Given the description of an element on the screen output the (x, y) to click on. 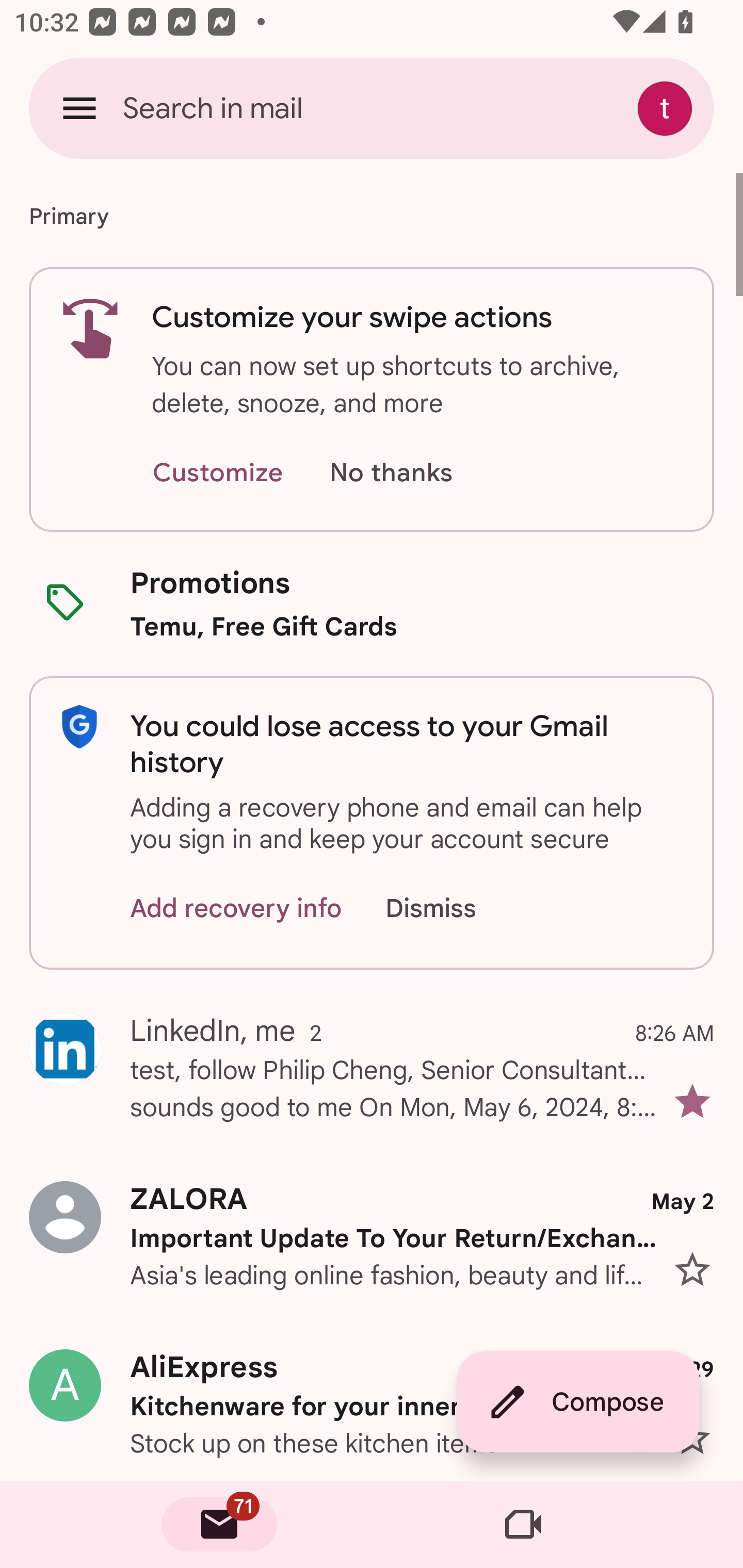
Open navigation drawer (79, 108)
Customize (217, 473)
No thanks (390, 473)
Promotions Temu, Free Gift Cards (371, 603)
Add recovery info (235, 908)
Dismiss (449, 908)
Compose (577, 1401)
Meet (523, 1524)
